Given the description of an element on the screen output the (x, y) to click on. 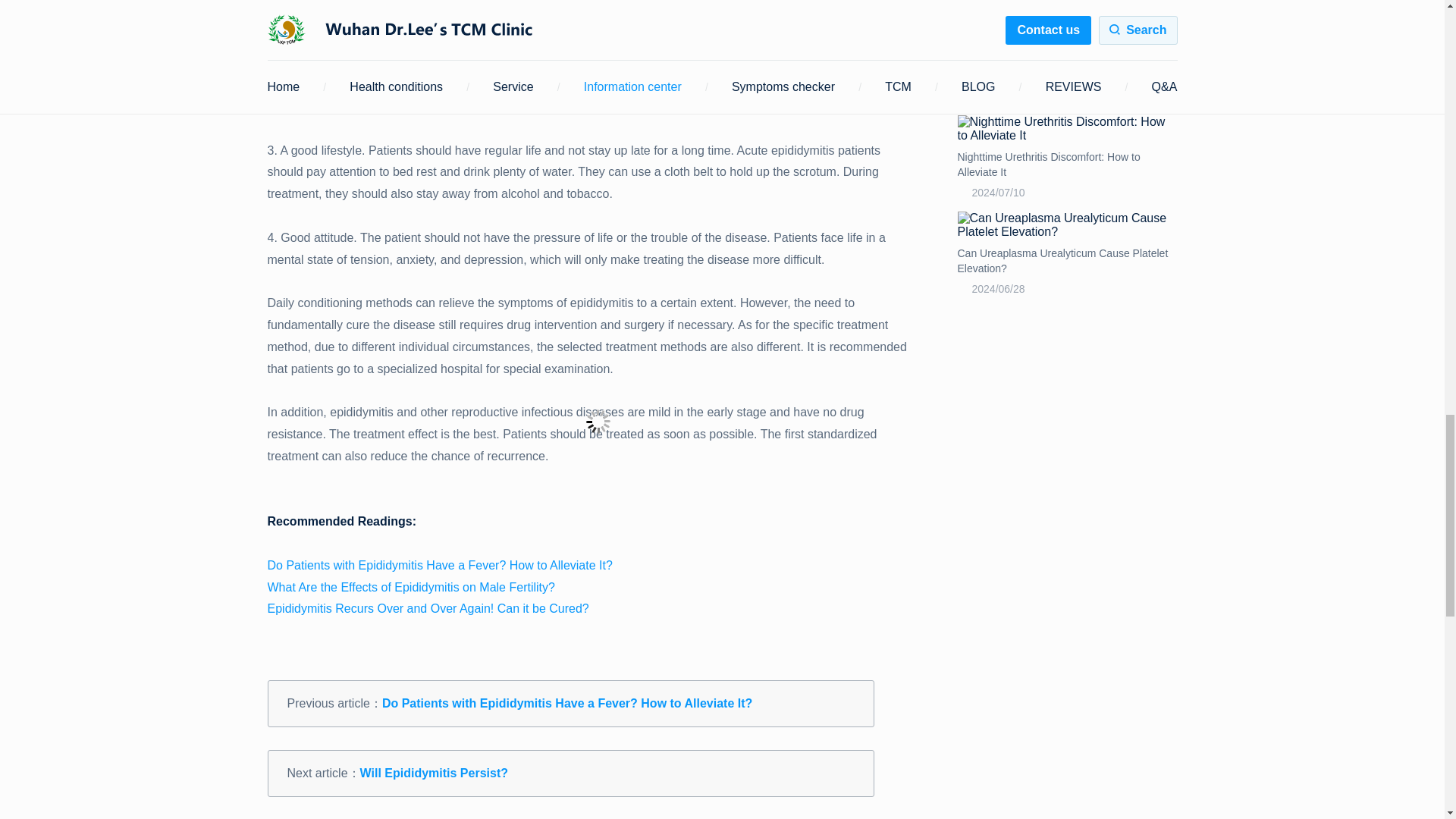
Will Epididymitis Persist? (433, 772)
Nighttime Urethritis Discomfort: How to Alleviate It (1066, 128)
Can Ureaplasma Urealyticum Cause Platelet Elevation? (1066, 225)
Nighttime Urethritis Discomfort: How to Alleviate It (1066, 164)
Can Ureaplasma Urealyticum Cause Platelet Elevation? (1066, 261)
